Given the description of an element on the screen output the (x, y) to click on. 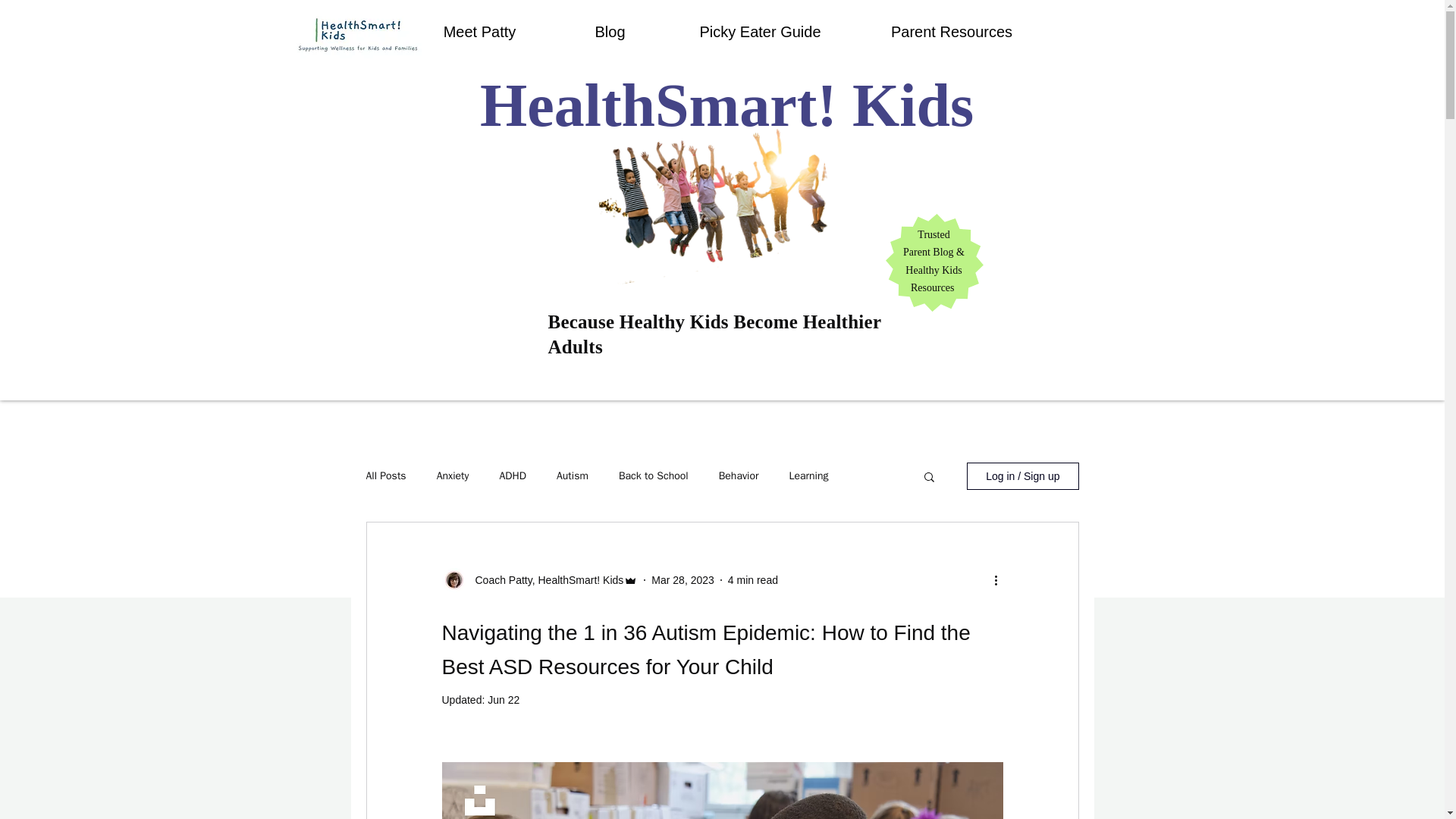
Learning (808, 476)
All Posts (385, 476)
Behavior (738, 476)
Anxiety (452, 476)
Jun 22 (503, 699)
Parent Resources (952, 32)
Picky Eater Guide (760, 32)
Back to School (653, 476)
Coach Patty, HealthSmart! Kids (544, 579)
Autism (572, 476)
